Given the description of an element on the screen output the (x, y) to click on. 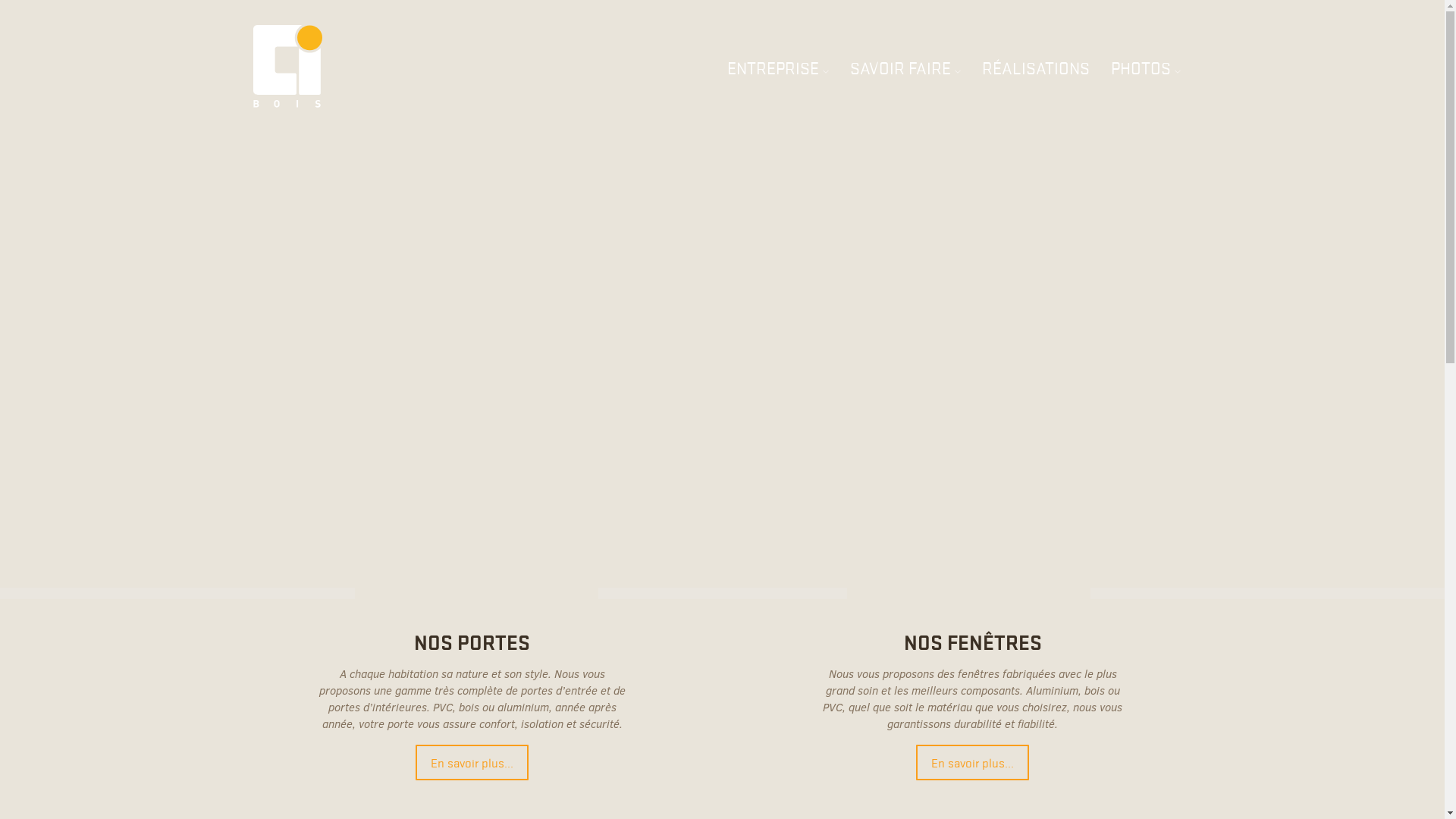
ENTREPRISE Element type: text (777, 68)
En savoir plus... Element type: text (972, 762)
En savoir plus... Element type: text (471, 762)
SAVOIR FAIRE Element type: text (905, 68)
PHOTOS Element type: text (1145, 68)
